Given the description of an element on the screen output the (x, y) to click on. 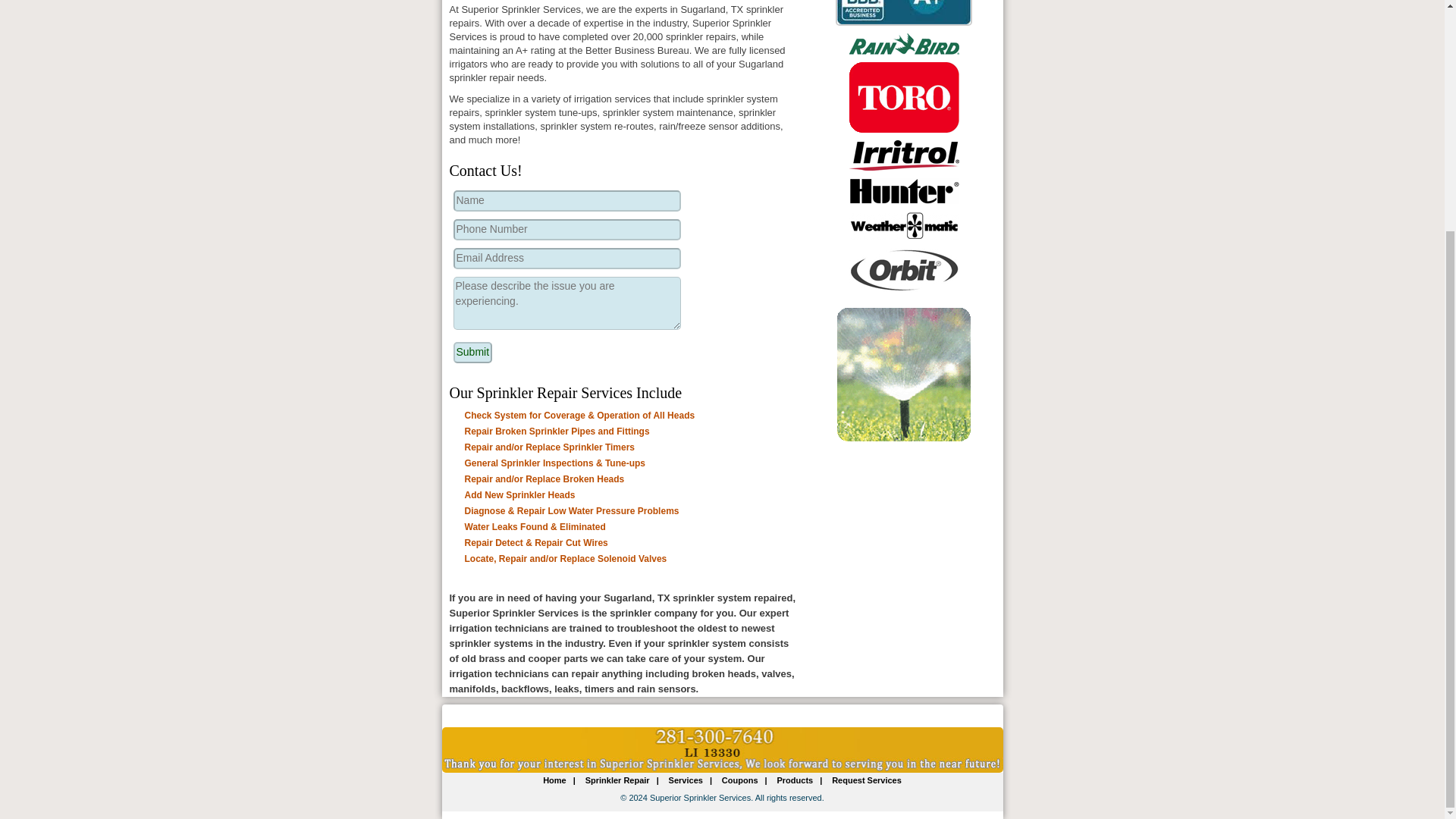
Submit (472, 352)
Home (554, 779)
Services (686, 779)
Sprinkler Repair (617, 779)
Add New Sprinkler Heads (511, 494)
Submit (472, 352)
Coupons (739, 779)
Repair Broken Sprinkler Pipes and Fittings (548, 430)
Products (794, 779)
Request Services (866, 779)
